Given the description of an element on the screen output the (x, y) to click on. 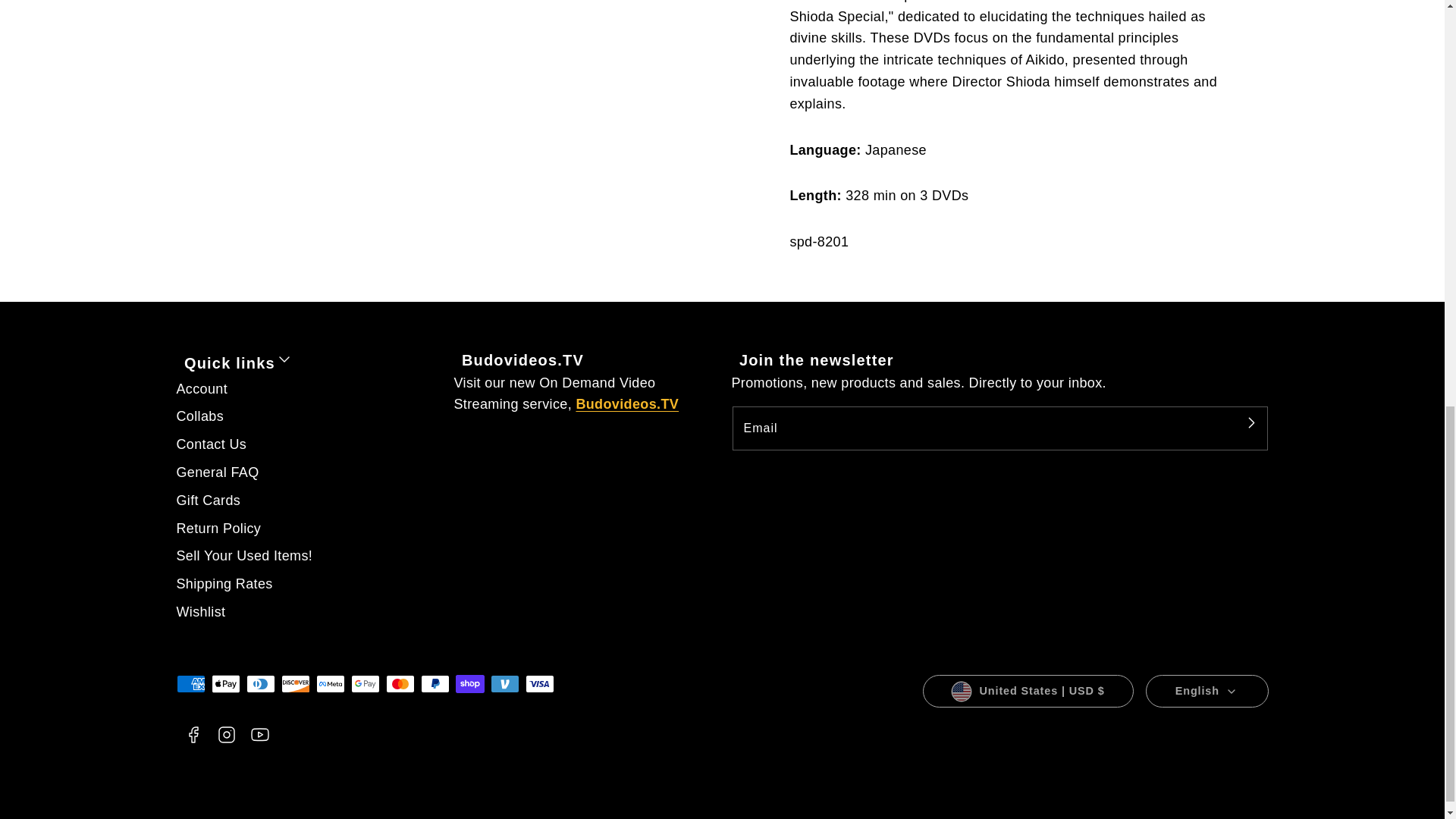
Discover (294, 683)
Visa (538, 683)
Venmo (503, 683)
Apple Pay (225, 683)
Diners Club (260, 683)
Mastercard (399, 683)
Meta Pay (329, 683)
Shop Pay (468, 683)
American Express (190, 683)
Google Pay (364, 683)
